Given the description of an element on the screen output the (x, y) to click on. 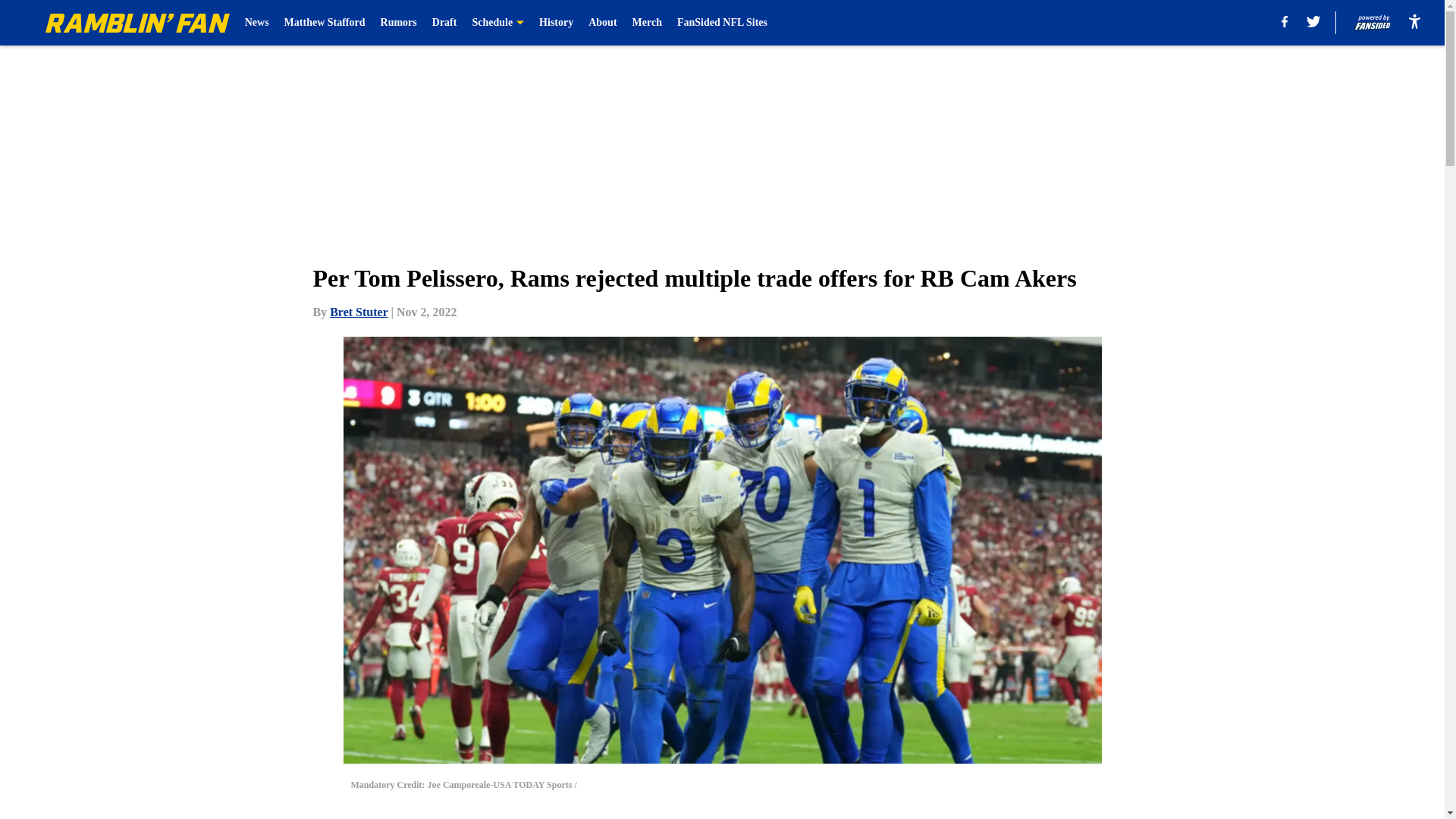
Matthew Stafford (324, 22)
News (256, 22)
Merch (646, 22)
History (555, 22)
About (601, 22)
Rumors (398, 22)
FanSided NFL Sites (722, 22)
Draft (444, 22)
Bret Stuter (358, 311)
